Given the description of an element on the screen output the (x, y) to click on. 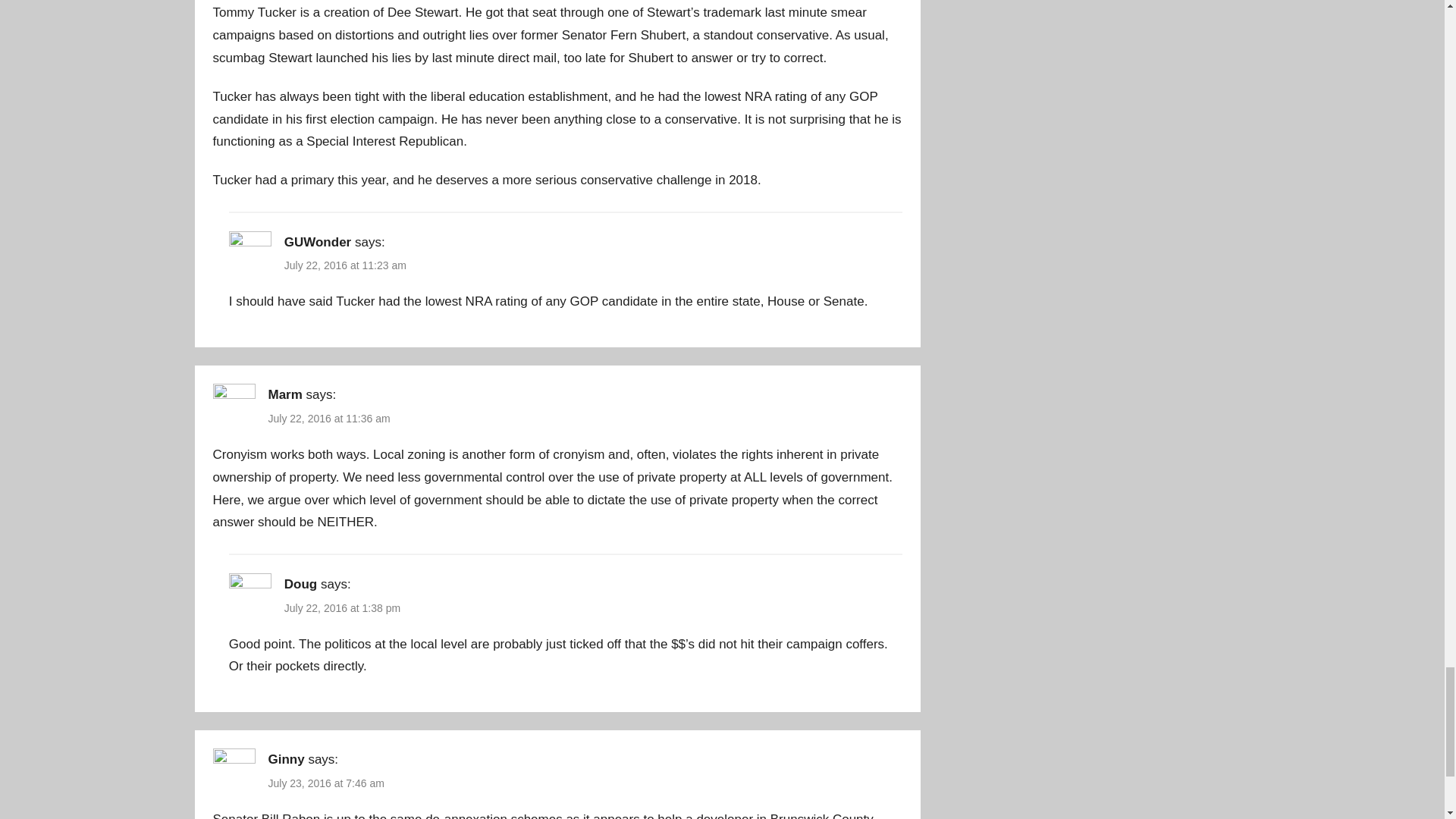
July 22, 2016 at 1:38 pm (341, 607)
July 22, 2016 at 11:23 am (344, 265)
July 22, 2016 at 11:36 am (328, 418)
July 23, 2016 at 7:46 am (325, 783)
